Given the description of an element on the screen output the (x, y) to click on. 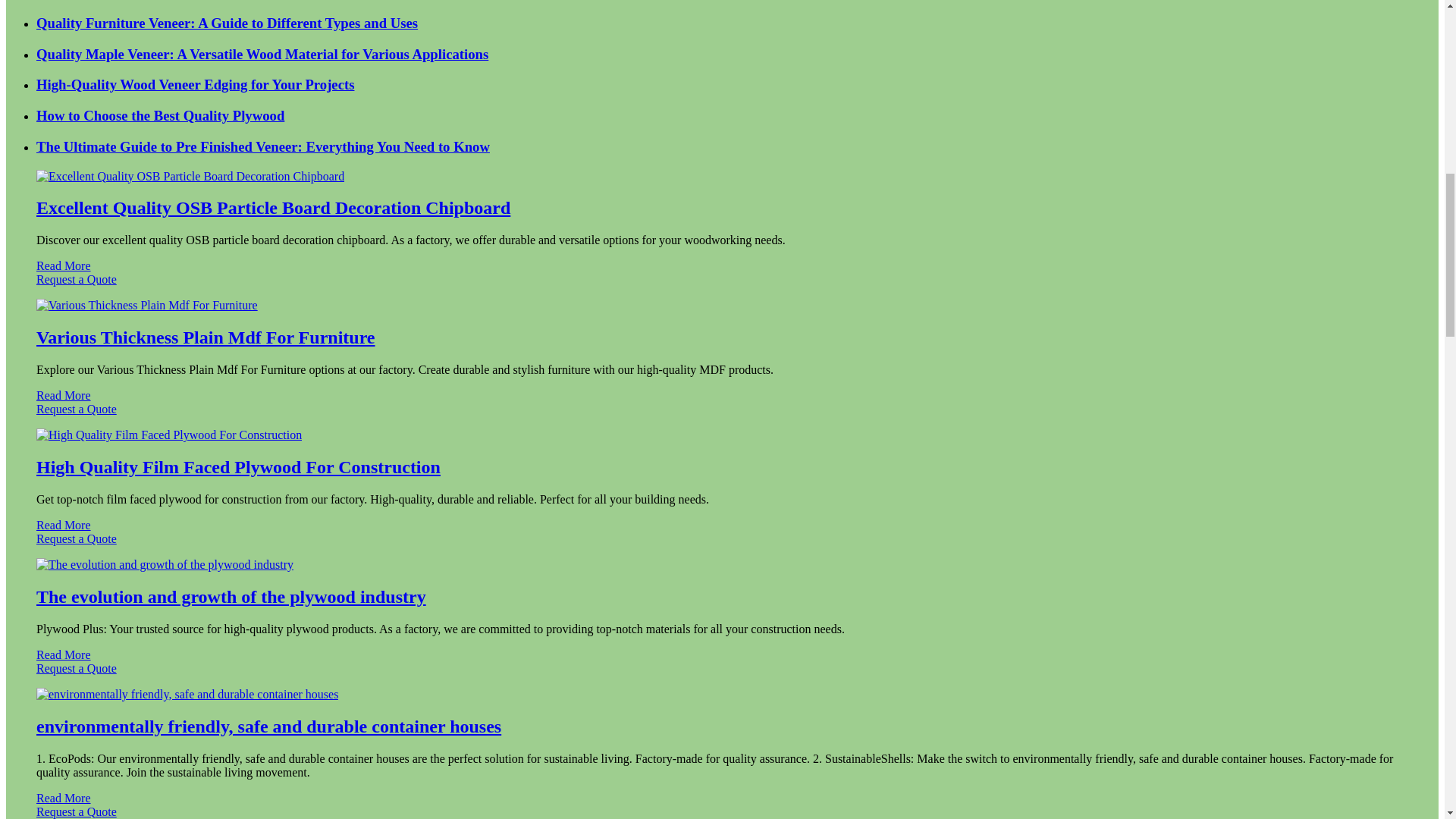
Read More (63, 395)
Read More (63, 265)
Request a Quote (721, 415)
Various Thickness Plain Mdf For Furniture (205, 337)
High Quality Film Faced Plywood For Construction (238, 466)
Excellent Quality OSB Particle Board Decoration Chipboard (273, 207)
Read More (63, 524)
Request a Quote (721, 286)
Request a Quote (721, 545)
